Given the description of an element on the screen output the (x, y) to click on. 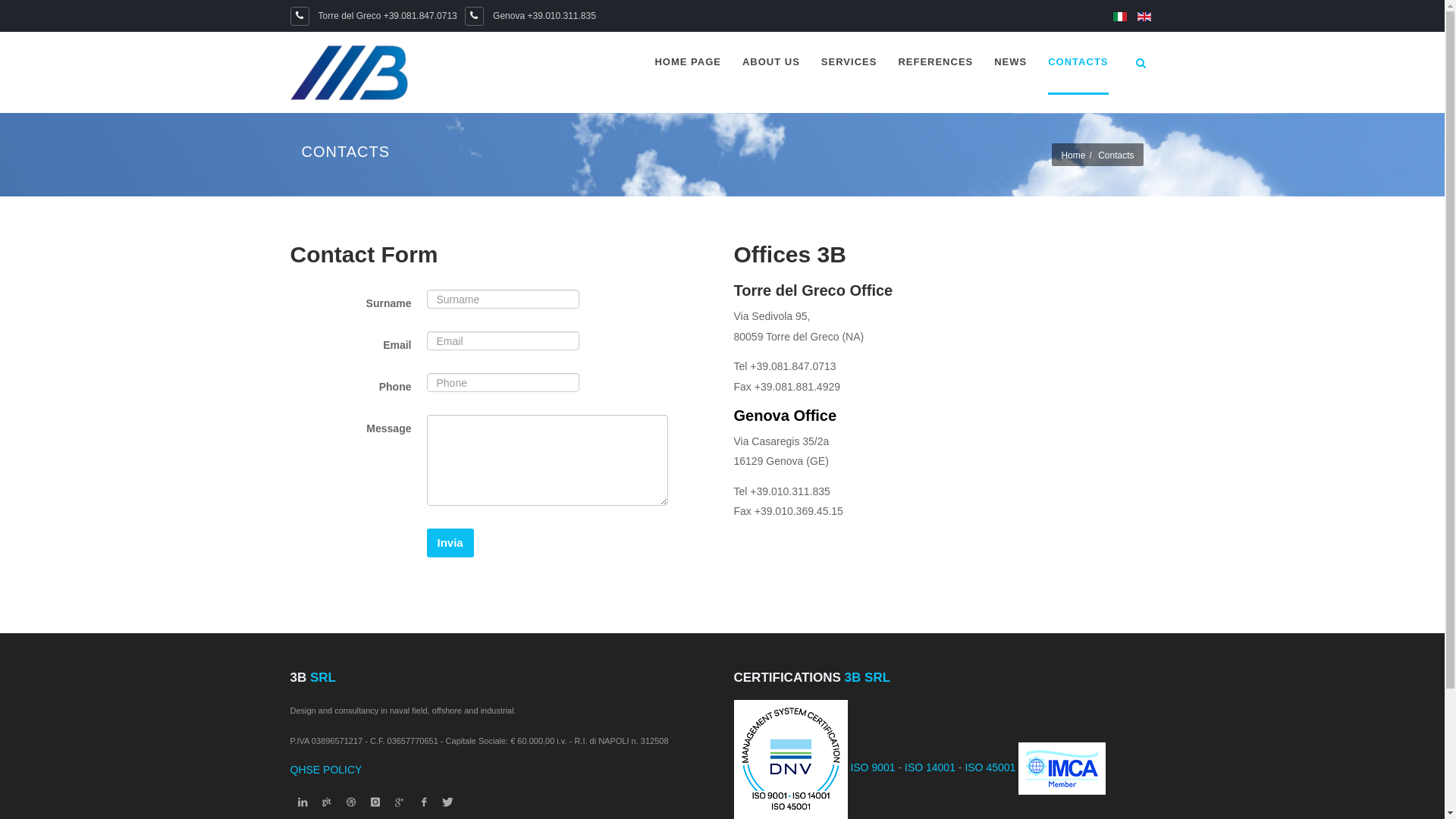
SERVICES Element type: text (849, 62)
Facebook Element type: hover (423, 802)
NEWS Element type: text (1010, 62)
ISO 9001 Element type: text (872, 767)
QHSE POLICY Element type: text (325, 769)
ISO 14001 Element type: text (929, 767)
English (UK) Element type: hover (1144, 16)
REFERENCES Element type: text (934, 62)
ISO 45001 Element type: text (989, 767)
3B srl Element type: hover (353, 75)
Italian (IT) Element type: hover (1119, 16)
instagram Element type: hover (374, 802)
Invia Element type: text (449, 542)
Linkedin Element type: hover (301, 802)
CONTACTS Element type: text (1077, 62)
HOME PAGE Element type: text (687, 62)
Google Plus Element type: hover (398, 802)
ABOUT US Element type: text (771, 62)
Github Element type: hover (325, 802)
Dribbble Element type: hover (350, 802)
Twitter Element type: hover (447, 802)
Home Element type: text (1072, 155)
